Given the description of an element on the screen output the (x, y) to click on. 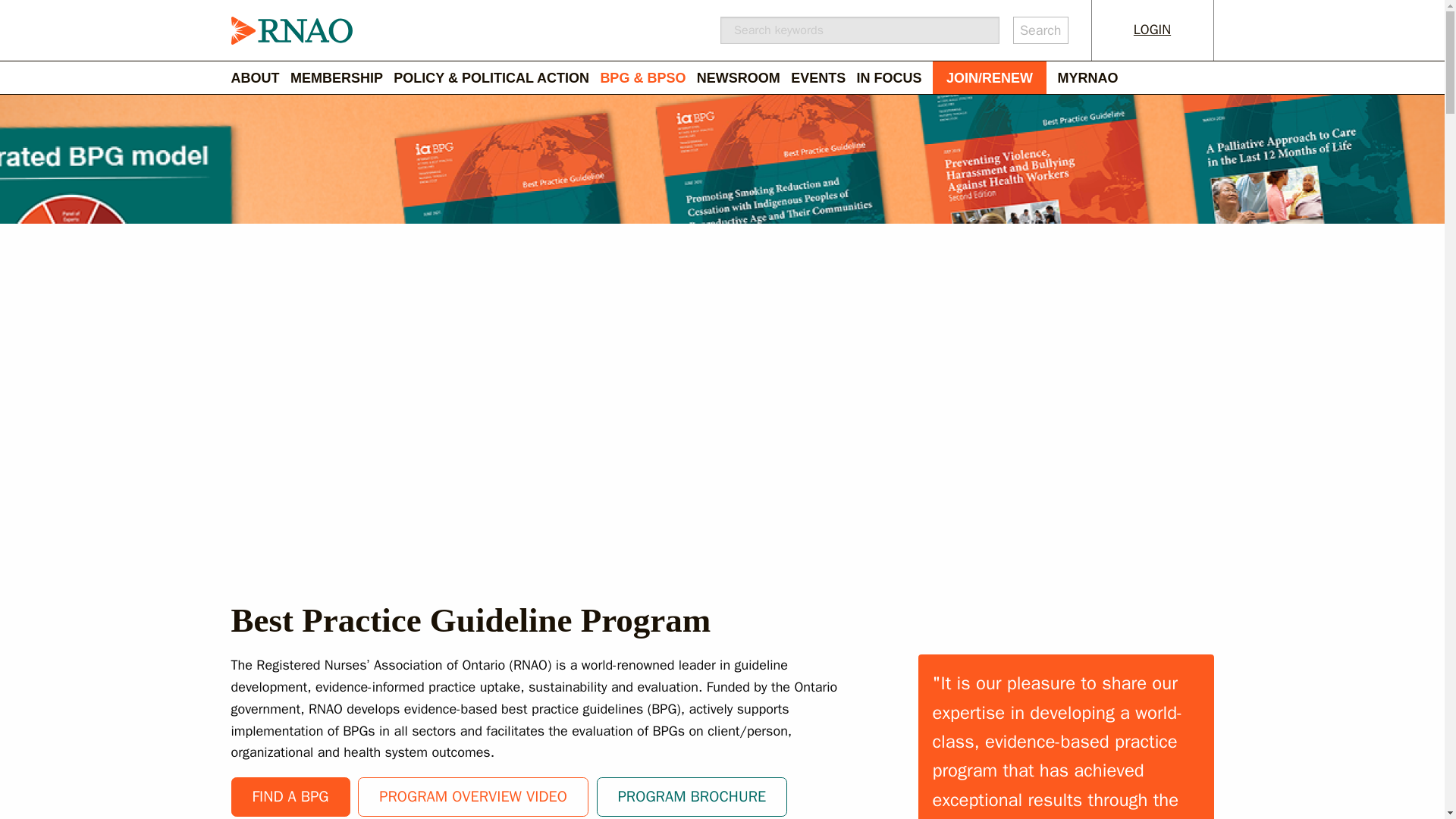
ABOUT (259, 77)
LOGIN (1152, 30)
Best practice guidelines (289, 796)
RNAO's BPG and BPSO programs (647, 77)
Search (1040, 30)
MEMBERSHIP (341, 77)
About us (259, 77)
Membership information (341, 77)
